Given the description of an element on the screen output the (x, y) to click on. 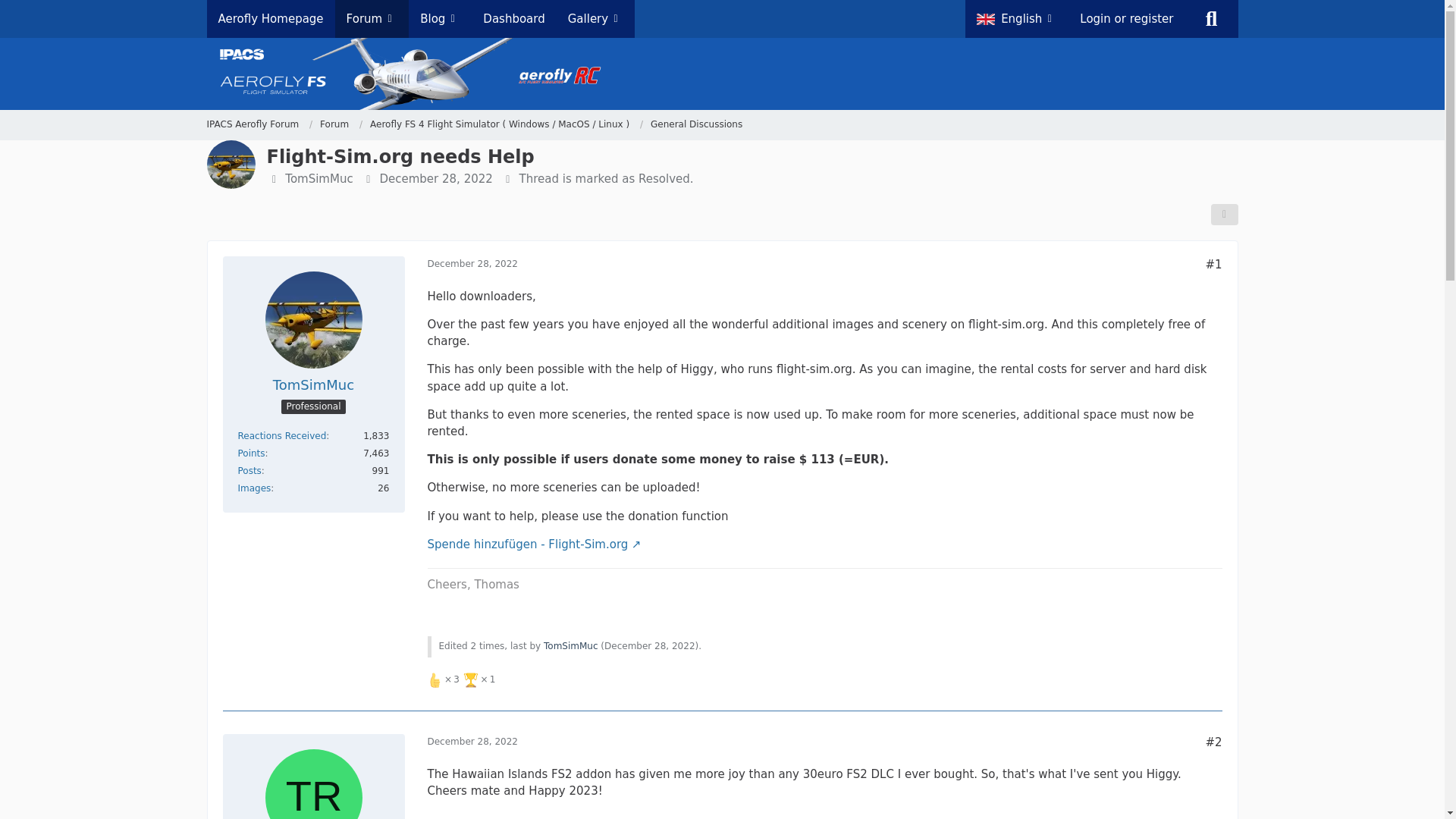
Login or register (462, 679)
TomSimMuc (1126, 18)
Posts (570, 645)
IPACS Aerofly Forum (250, 470)
Forum (252, 124)
General Discussions (334, 124)
Aerofly Homepage (696, 124)
TomSimMuc (270, 18)
IPACS Aerofly Forum (313, 384)
Dashboard (259, 124)
Images (513, 18)
Forum (254, 488)
